Given the description of an element on the screen output the (x, y) to click on. 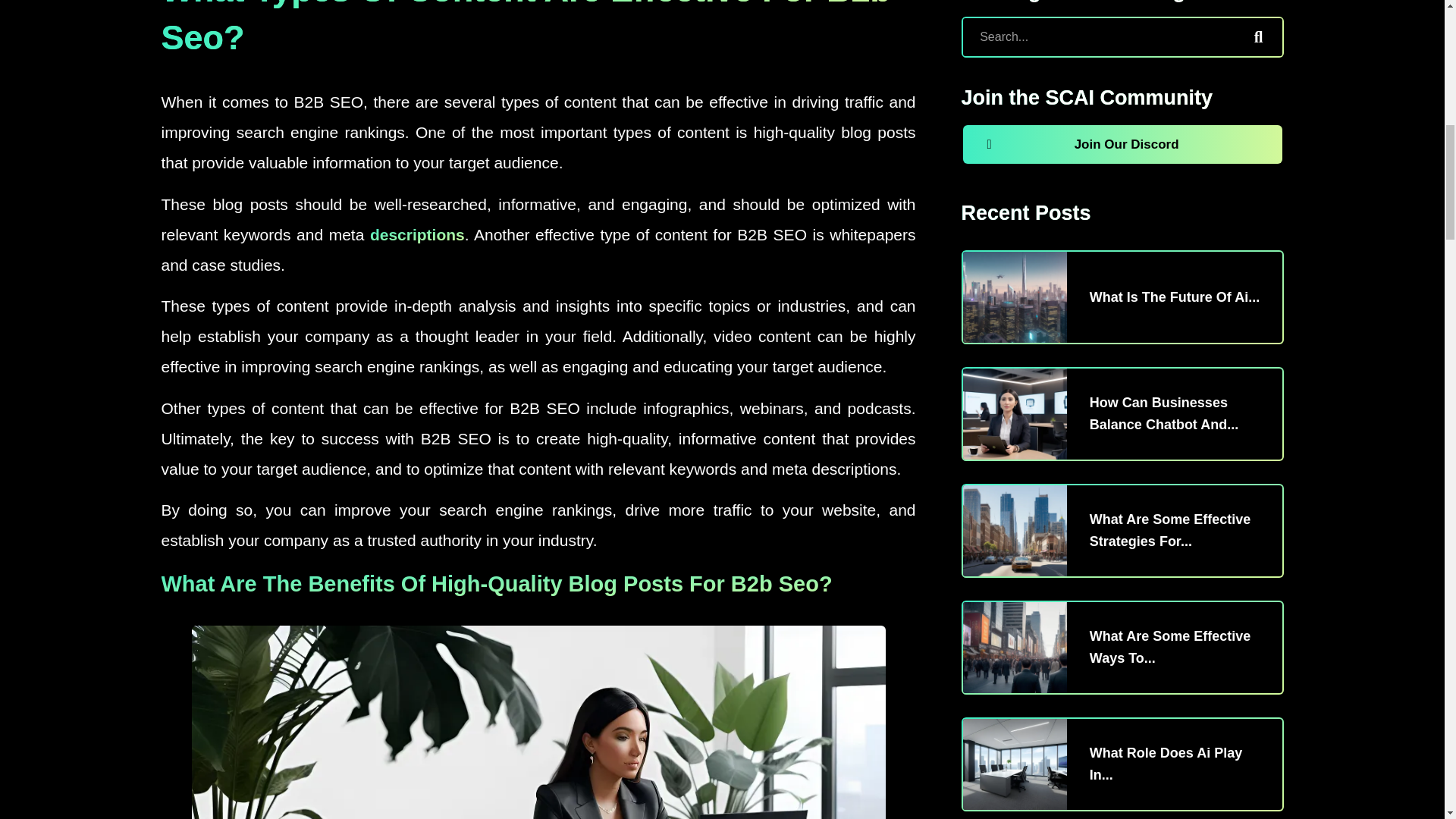
Join Our Discord (1122, 144)
descriptions (416, 234)
